Given the description of an element on the screen output the (x, y) to click on. 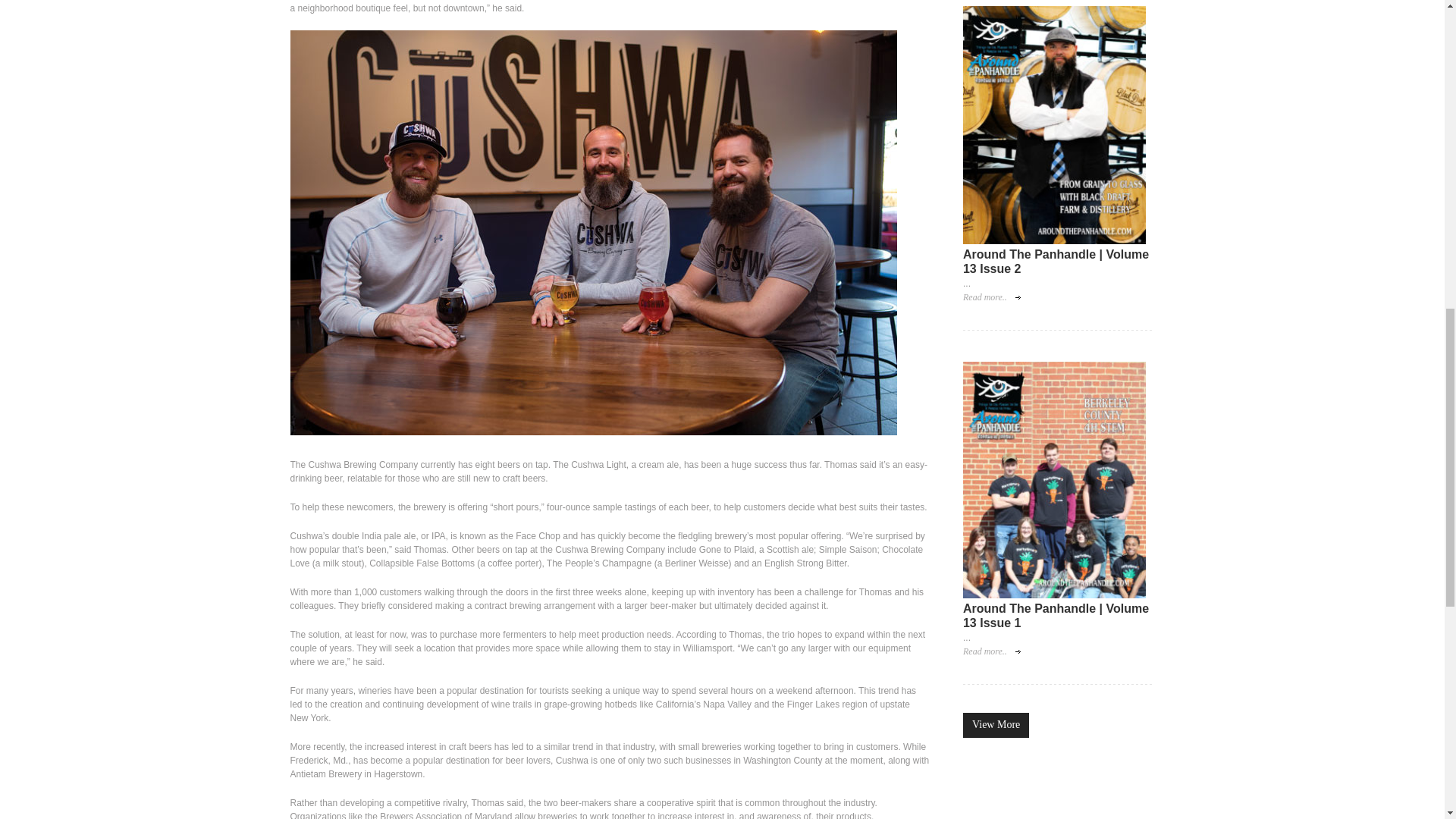
Read more.. (991, 297)
Read more.. (991, 651)
View More (995, 724)
